Given the description of an element on the screen output the (x, y) to click on. 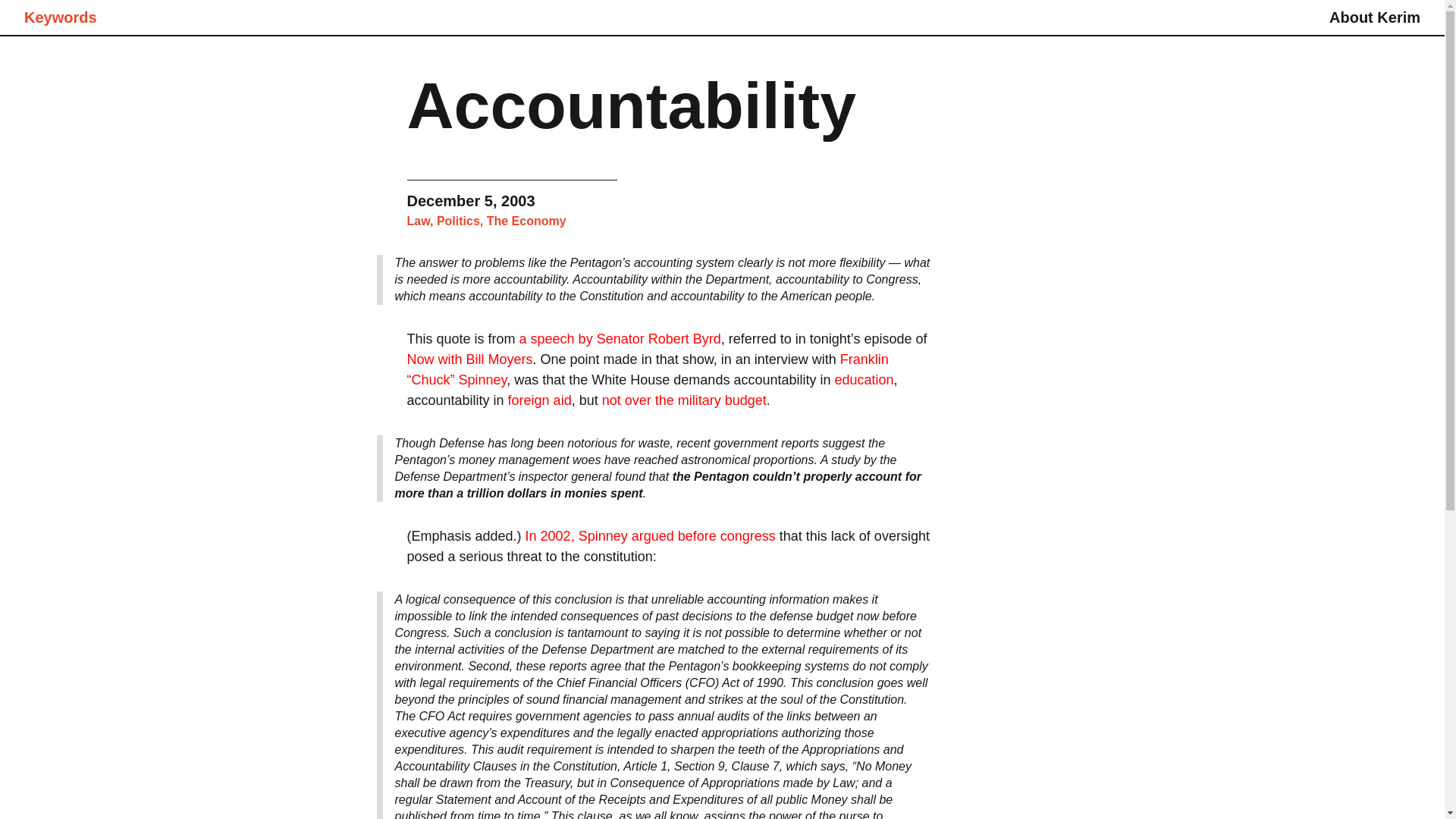
The Economy (526, 220)
not over the military budget (684, 400)
a speech by Senator Robert Byrd (619, 338)
education (863, 379)
About Kerim (1375, 17)
Politics (458, 220)
Keywords (60, 17)
In 2002, Spinney argued before congress (650, 535)
Now with Bill Moyers (469, 359)
Law (417, 220)
